Given the description of an element on the screen output the (x, y) to click on. 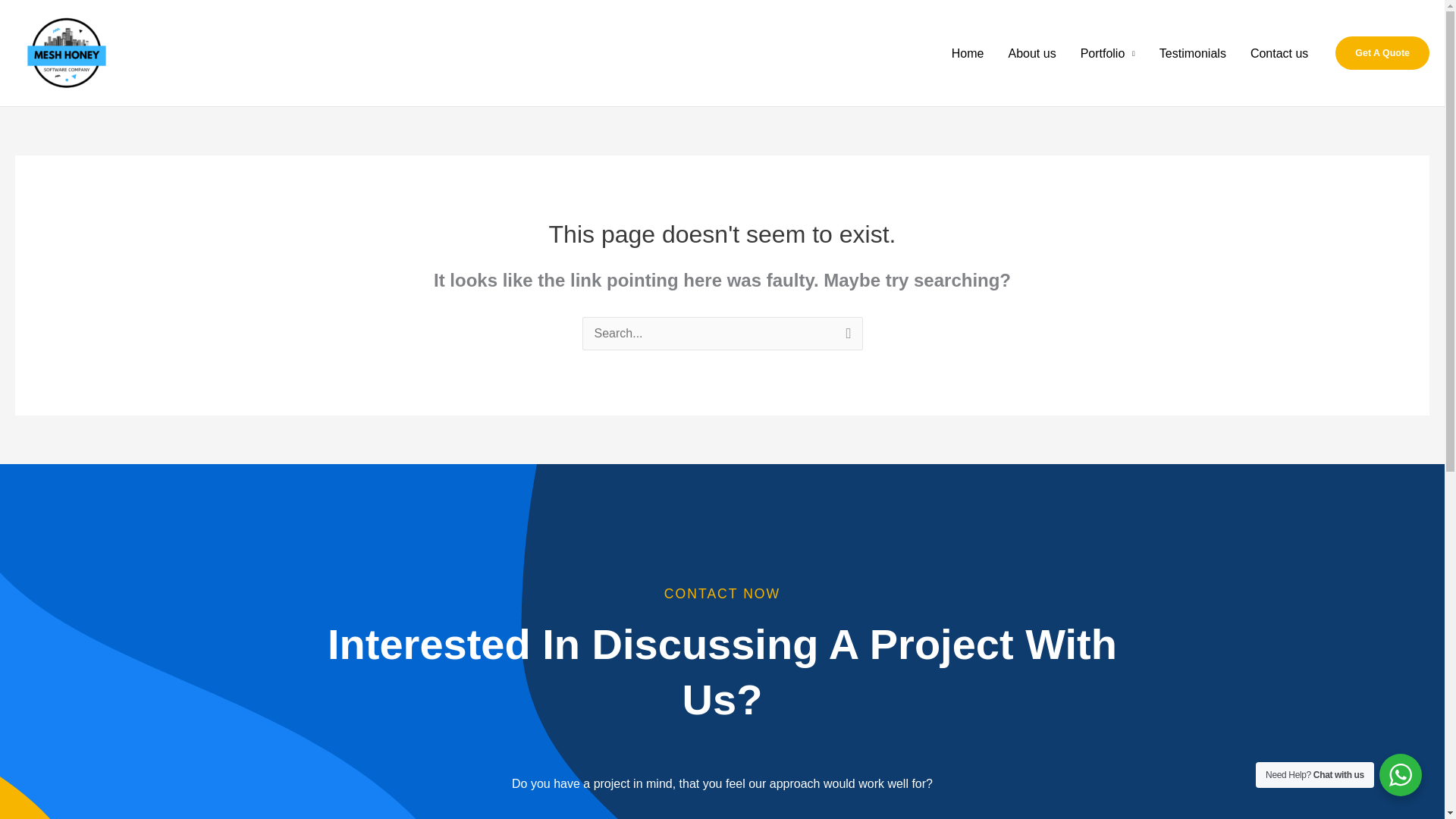
Contact us (1279, 52)
Home (967, 52)
About us (1031, 52)
Testimonials (1193, 52)
Portfolio (1107, 52)
Get A Quote (1382, 52)
Need Help? Chat with us (1400, 774)
